Given the description of an element on the screen output the (x, y) to click on. 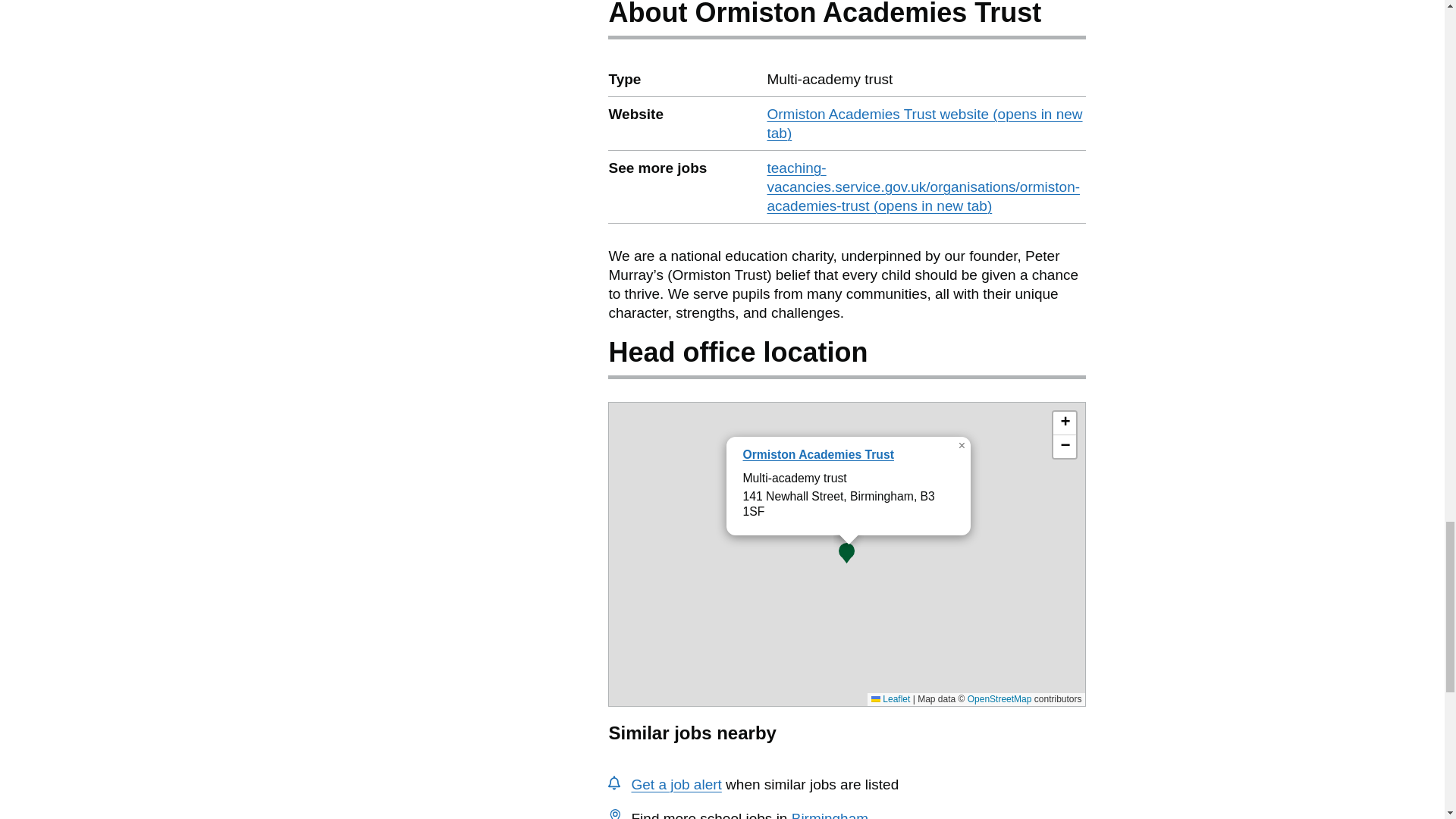
OpenStreetMap (1000, 698)
Zoom out (1063, 445)
Birmingham (829, 814)
Zoom in (1063, 422)
Ormiston Academies Trust (817, 454)
Get a job alert (675, 784)
Leaflet (890, 698)
A JavaScript library for interactive maps (890, 698)
